Given the description of an element on the screen output the (x, y) to click on. 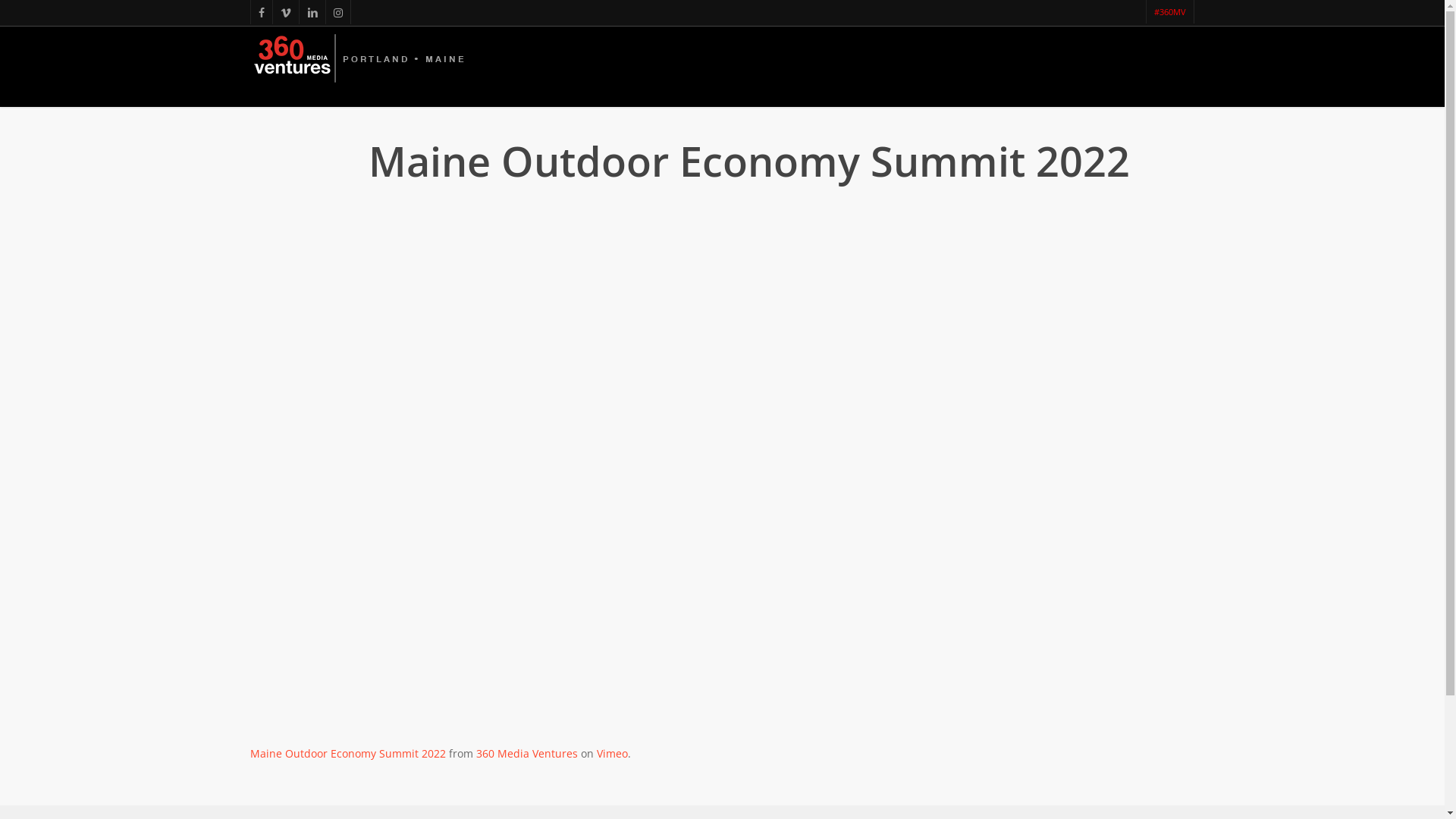
Maine Outdoor Economy Summit 2022 Element type: text (347, 753)
facebook Element type: text (261, 12)
360 Media Ventures Element type: text (526, 753)
instagram Element type: text (337, 12)
linkedin Element type: text (311, 12)
vimeo Element type: text (285, 12)
Vimeo Element type: text (611, 753)
#360MV Element type: text (1169, 11)
